Given the description of an element on the screen output the (x, y) to click on. 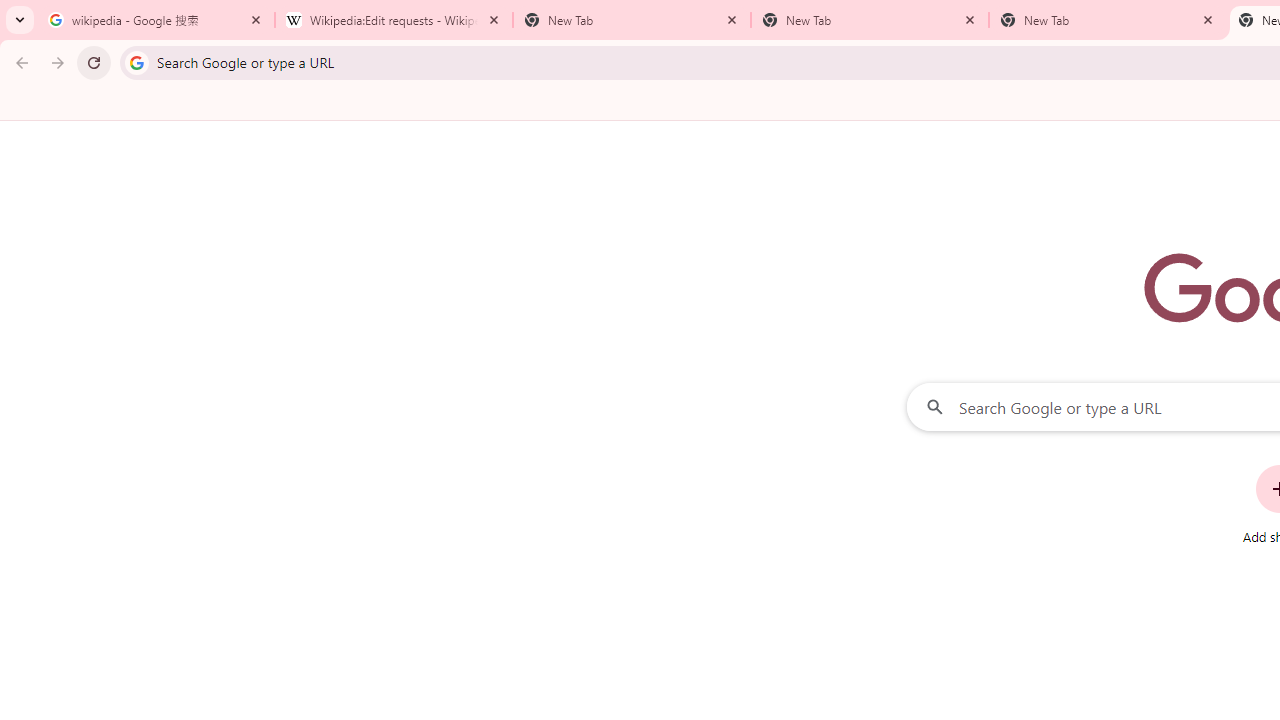
Wikipedia:Edit requests - Wikipedia (394, 20)
New Tab (1108, 20)
New Tab (870, 20)
